Given the description of an element on the screen output the (x, y) to click on. 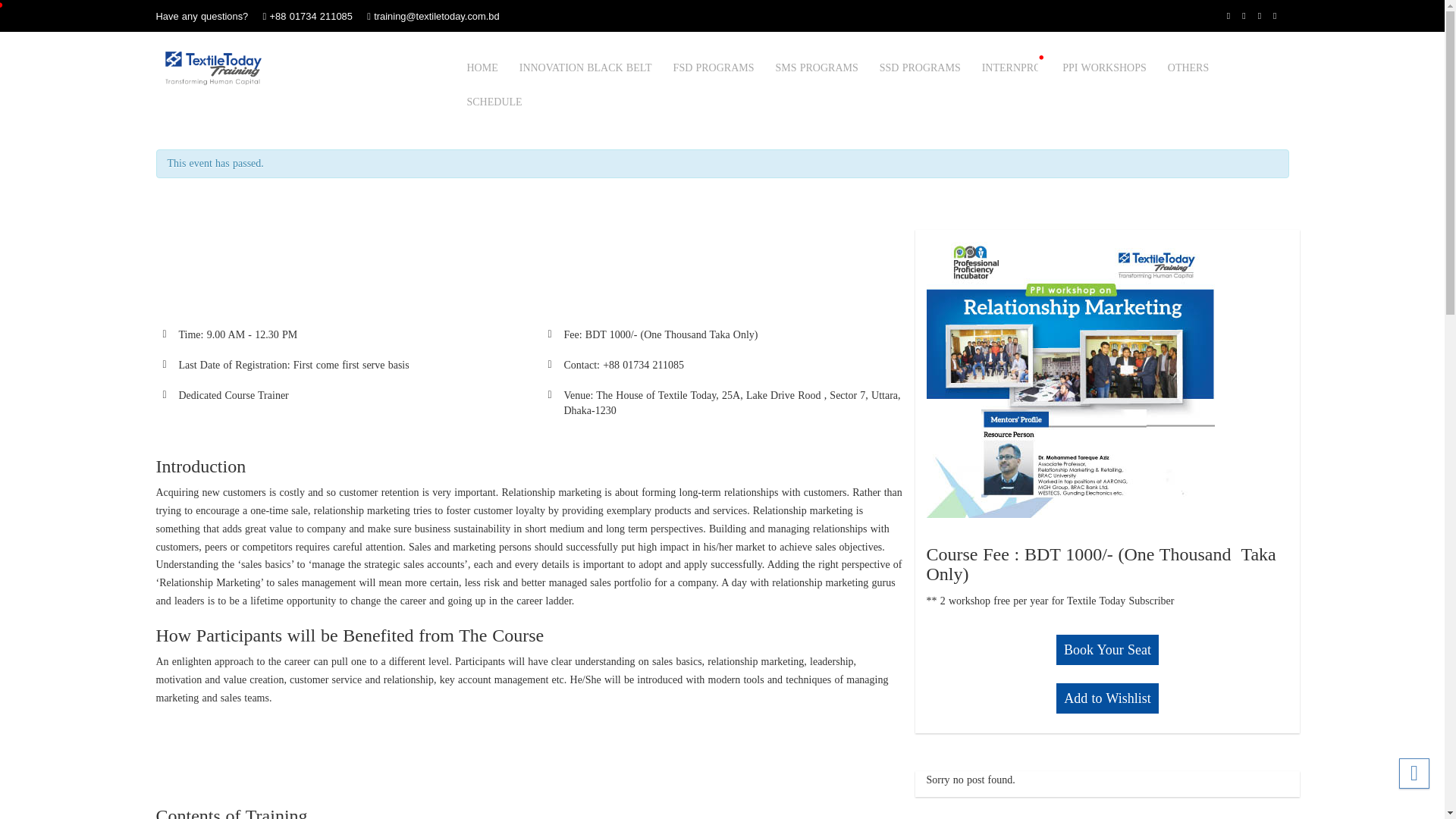
Add to Wishlist (1107, 698)
SMS Programs (817, 68)
Home (482, 68)
Others (1187, 68)
PPI Workshops (1104, 68)
INNOVATION BLACK BELT (585, 68)
SSD Programs (919, 68)
SCHEDULE (494, 101)
Academia (212, 68)
